Given the description of an element on the screen output the (x, y) to click on. 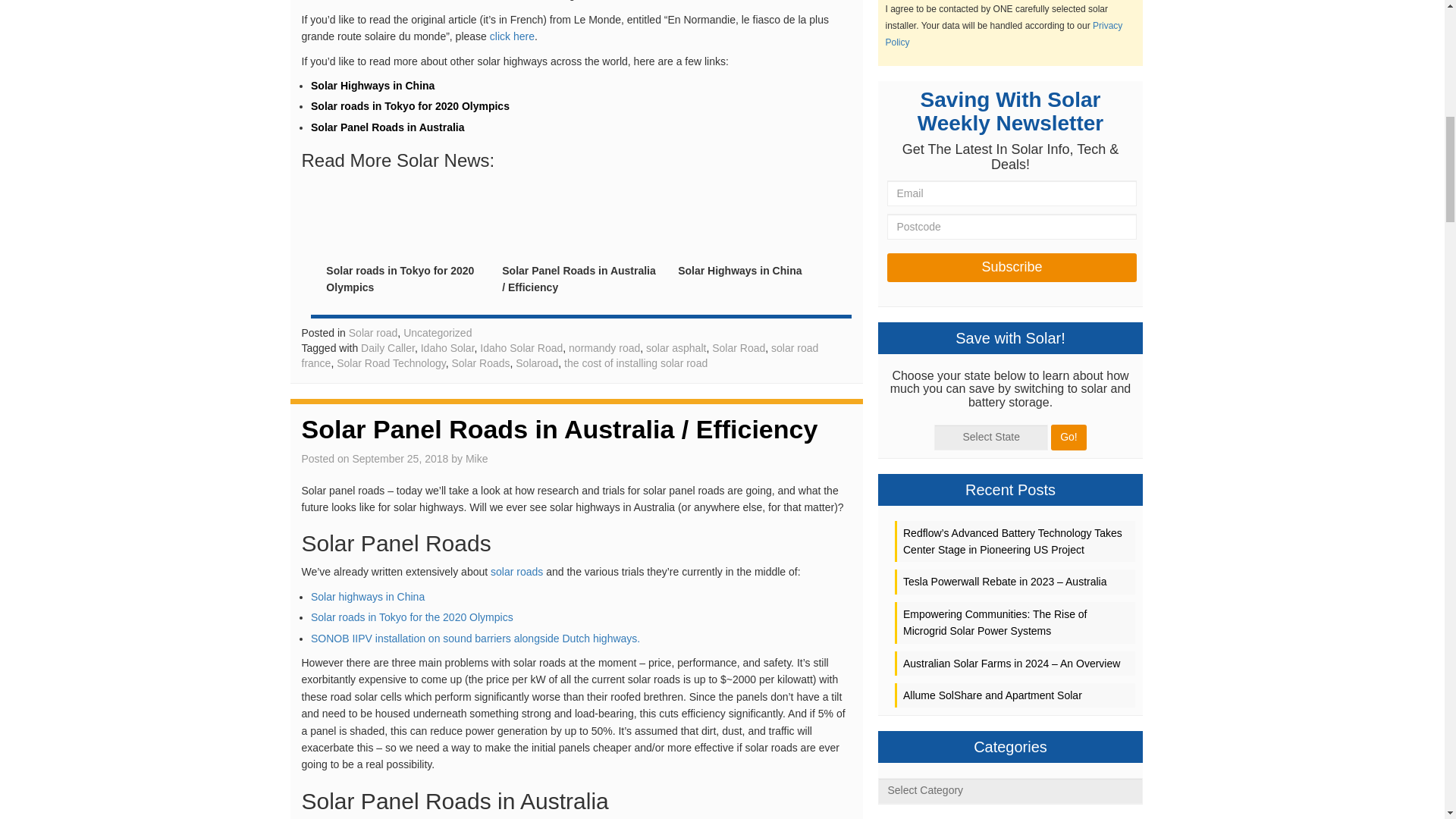
Solar Highways in China (740, 270)
click here (511, 36)
1:04 pm (400, 458)
Solar Highways in China (372, 85)
Subscribe (1011, 267)
View all posts by Mike (476, 458)
Solar roads in Tokyo for 2020 Olympics (410, 105)
Solar roads in Tokyo for 2020 Olympics (400, 278)
Go! (1068, 437)
